Given the description of an element on the screen output the (x, y) to click on. 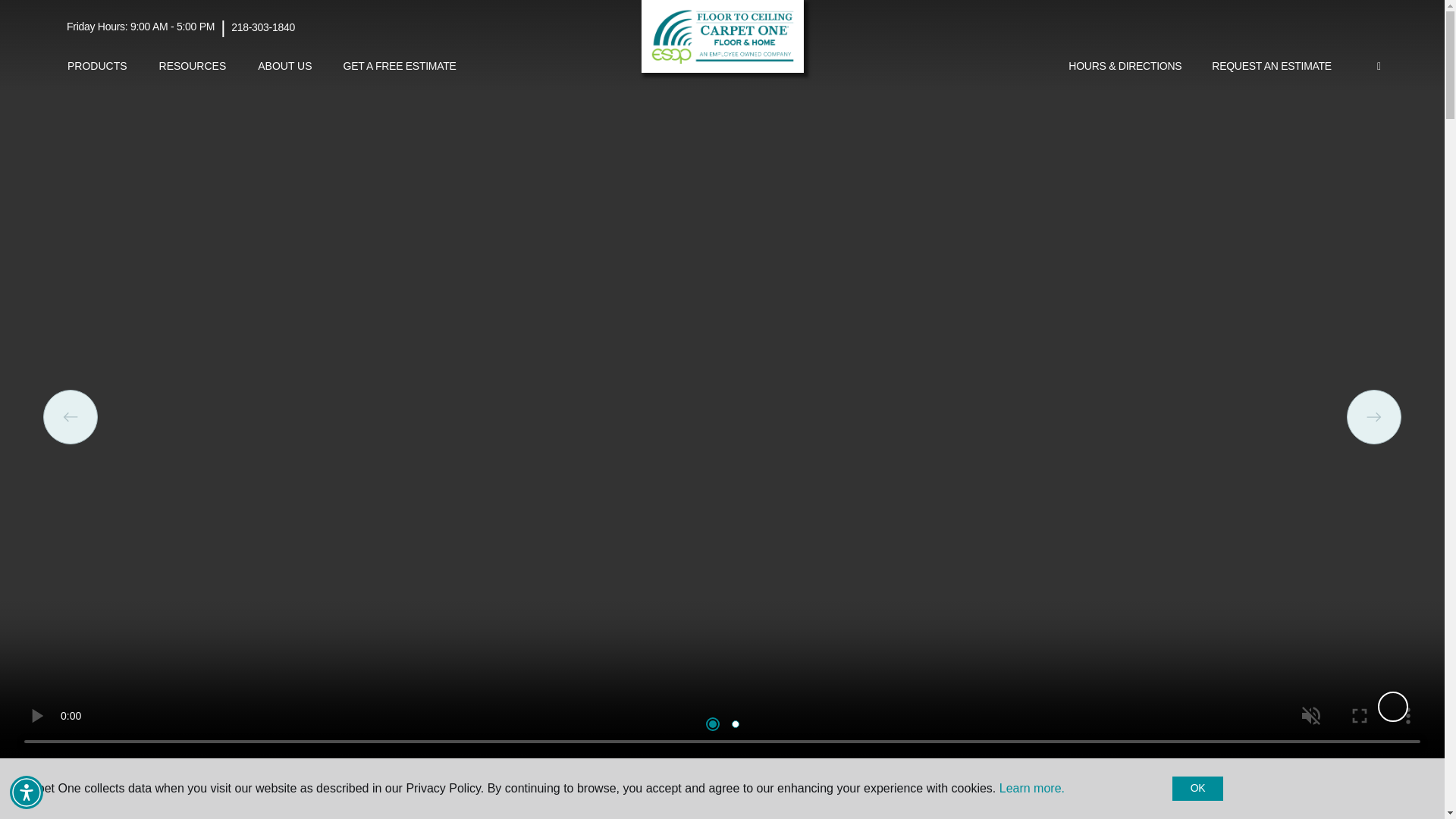
Accessibility Menu (26, 792)
ABOUT US (284, 66)
Pause Video (1392, 706)
218-303-1840 (263, 27)
GET A FREE ESTIMATE (399, 66)
RESOURCES (193, 66)
PRODUCTS (97, 66)
REQUEST AN ESTIMATE (1271, 66)
